Given the description of an element on the screen output the (x, y) to click on. 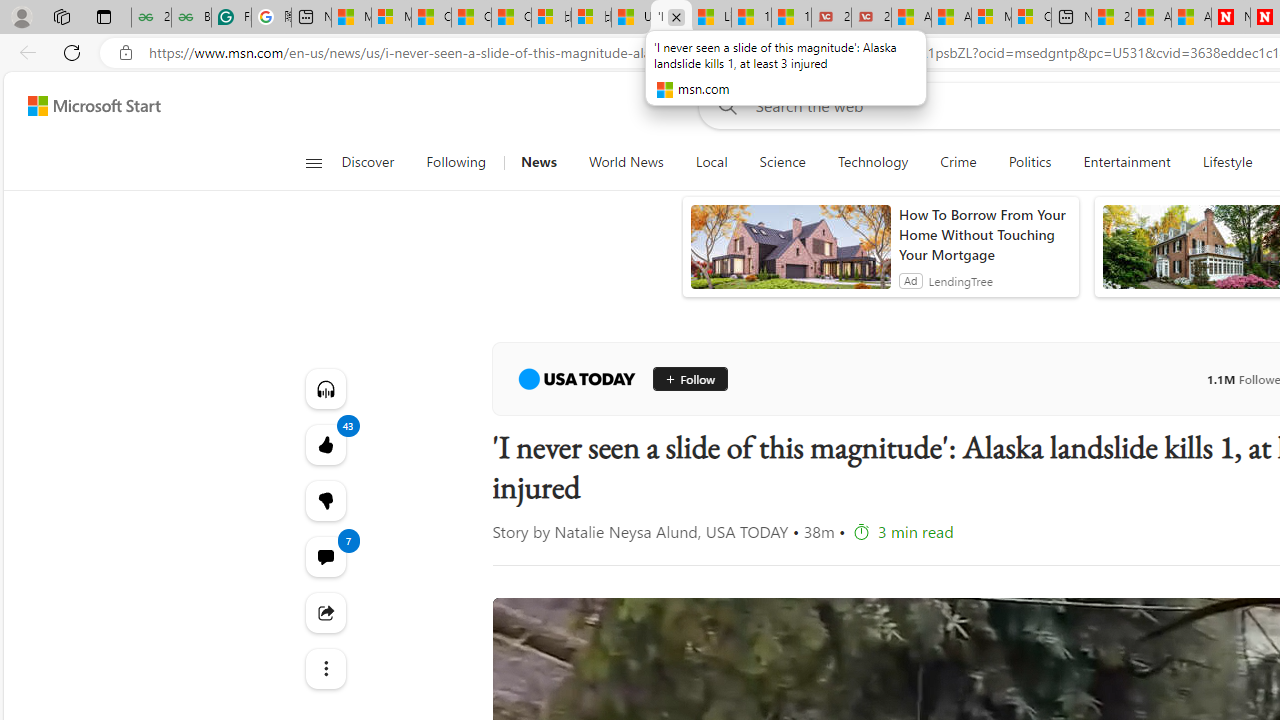
25 Basic Linux Commands For Beginners - GeeksforGeeks (151, 17)
View comments 7 Comment (324, 556)
Share this story (324, 612)
21 Movies That Outdid the Books They Were Based On (871, 17)
